Given the description of an element on the screen output the (x, y) to click on. 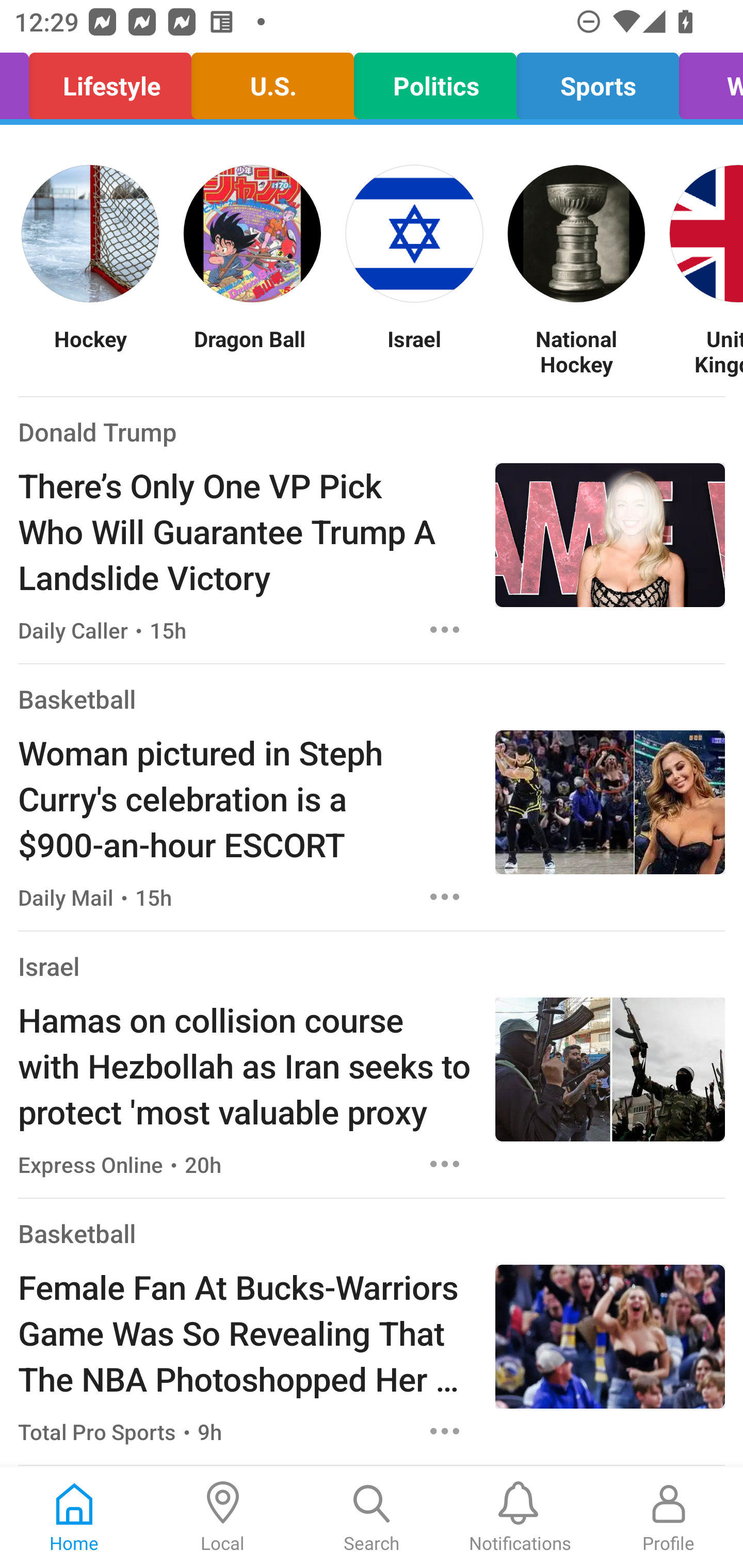
Lifestyle (109, 81)
U.S. (272, 81)
Politics (435, 81)
Sports (597, 81)
Hockey (89, 350)
Dragon Ball  (251, 350)
Israel (413, 350)
National Hockey League (575, 350)
Donald Trump (97, 430)
Options (444, 629)
Basketball (76, 699)
Options (444, 896)
Israel (48, 965)
Options (444, 1164)
Basketball (76, 1232)
Options (444, 1431)
Local (222, 1517)
Search (371, 1517)
Notifications (519, 1517)
Profile (668, 1517)
